Given the description of an element on the screen output the (x, y) to click on. 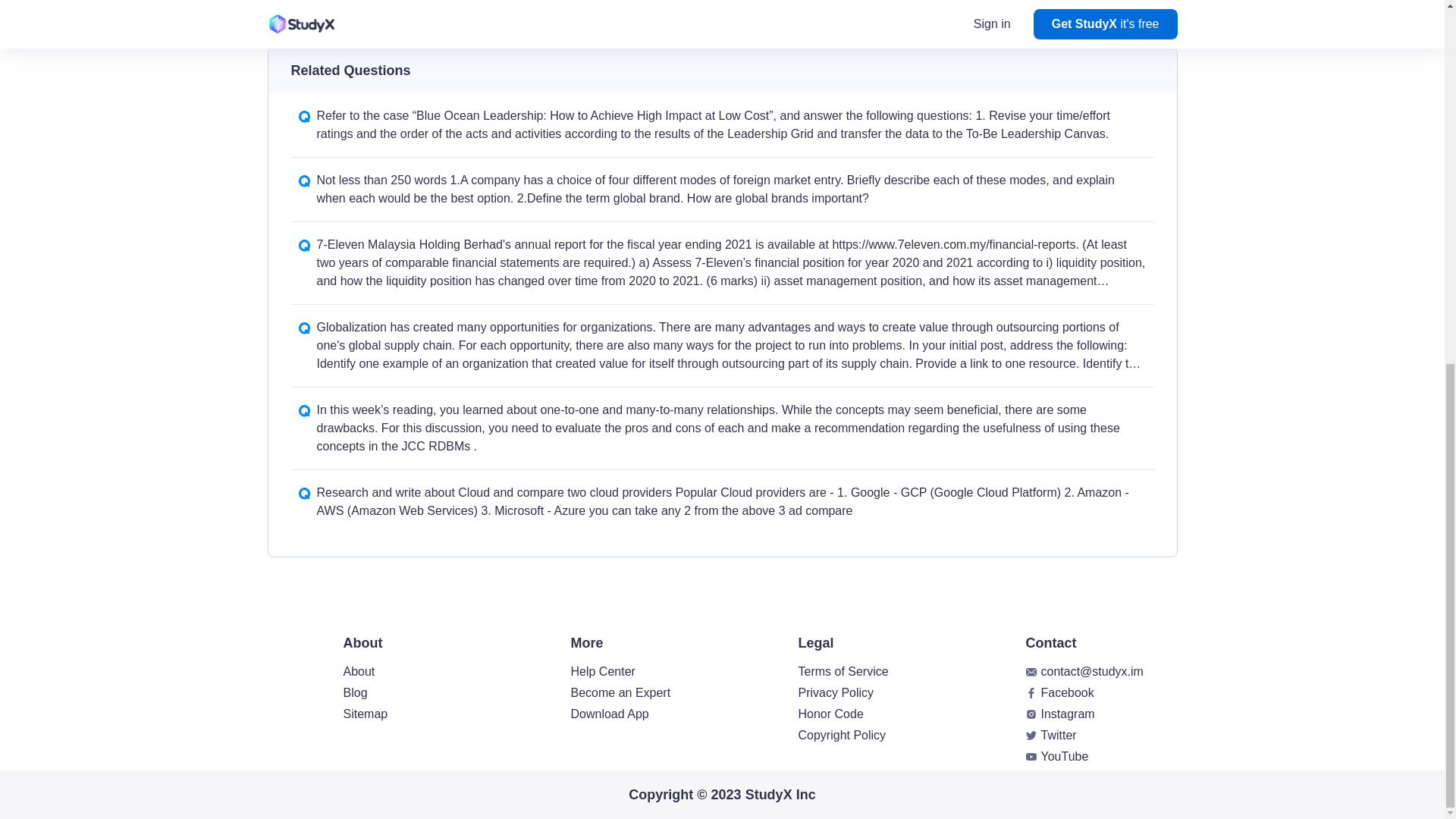
Facebook (1067, 692)
Help Center (602, 671)
Sitemap (364, 713)
Privacy Policy (835, 692)
Blog (354, 692)
YouTube (1064, 756)
Download App (608, 713)
About (358, 671)
Become an Expert (619, 692)
Terms of Service (842, 671)
Copyright Policy (841, 735)
Honor Code (830, 713)
Instagram (1067, 713)
Twitter (1058, 735)
